Given the description of an element on the screen output the (x, y) to click on. 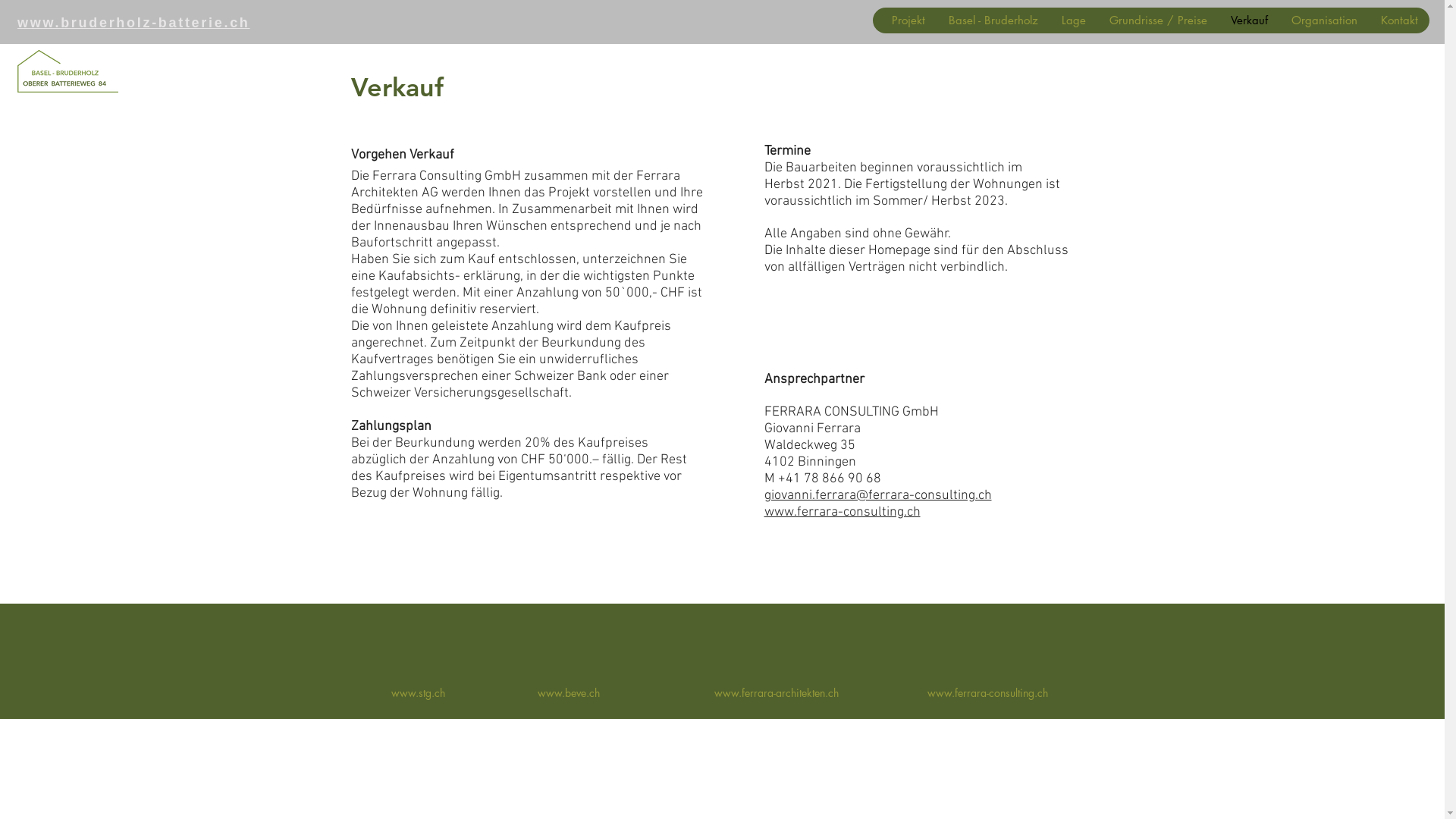
Lage Element type: text (1073, 20)
www.beve.ch Element type: text (567, 692)
Basel - Bruderholz Element type: text (992, 20)
www.ferrara-consulting.ch Element type: text (986, 693)
Projekt Element type: text (907, 20)
www.ferrara-consulting.ch Element type: text (842, 512)
giovanni.ferrara@ferrara-consulting.ch Element type: text (877, 495)
Verkauf Element type: text (1248, 20)
www.bruderholz-batterie.ch Element type: text (133, 22)
www.stg.ch Element type: text (418, 693)
Kontakt Element type: text (1398, 20)
Organisation Element type: text (1323, 20)
Grundrisse / Preise Element type: text (1157, 20)
www.ferrara-architekten.ch Element type: text (776, 693)
